Given the description of an element on the screen output the (x, y) to click on. 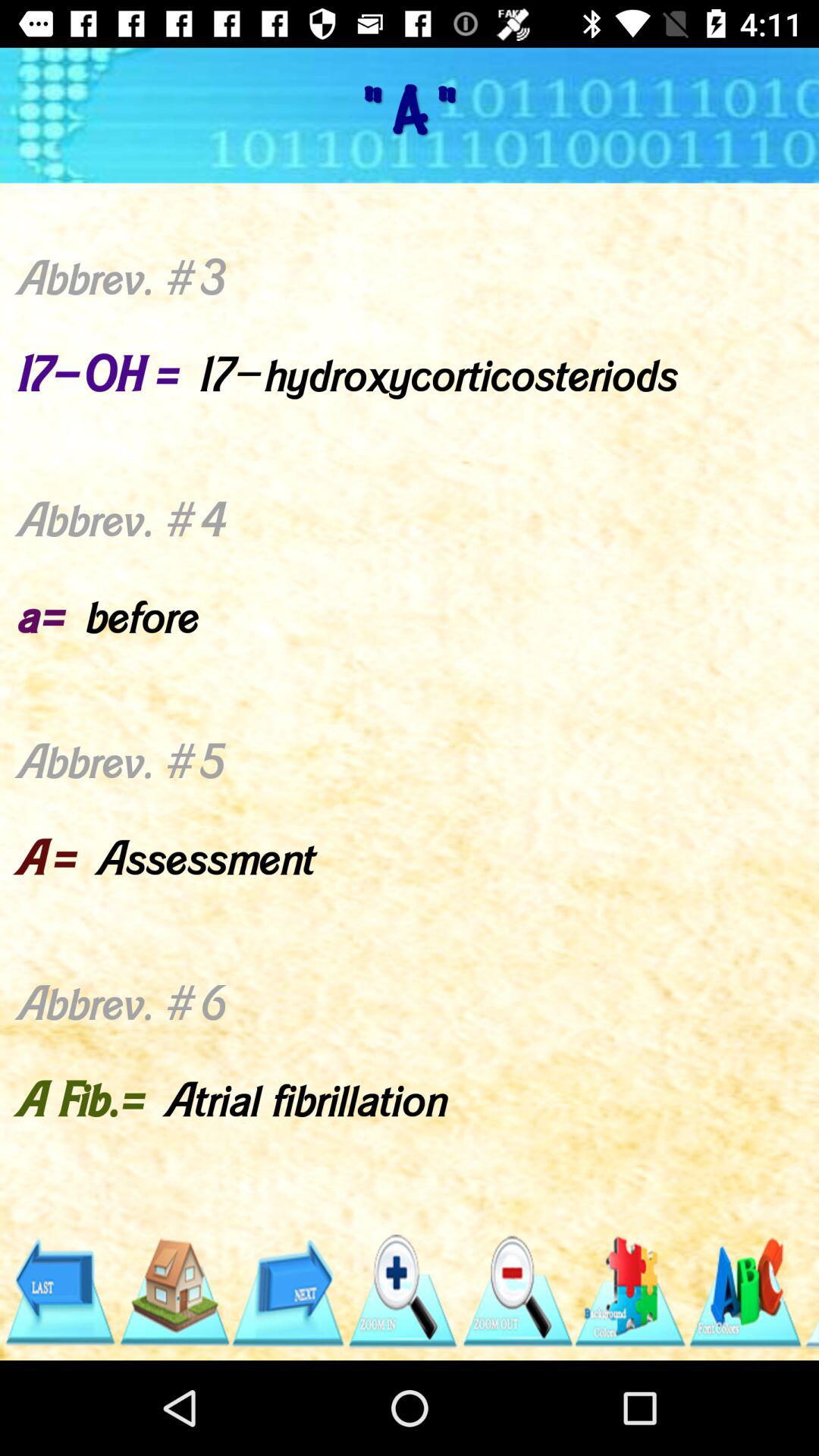
go back (59, 1291)
